Given the description of an element on the screen output the (x, y) to click on. 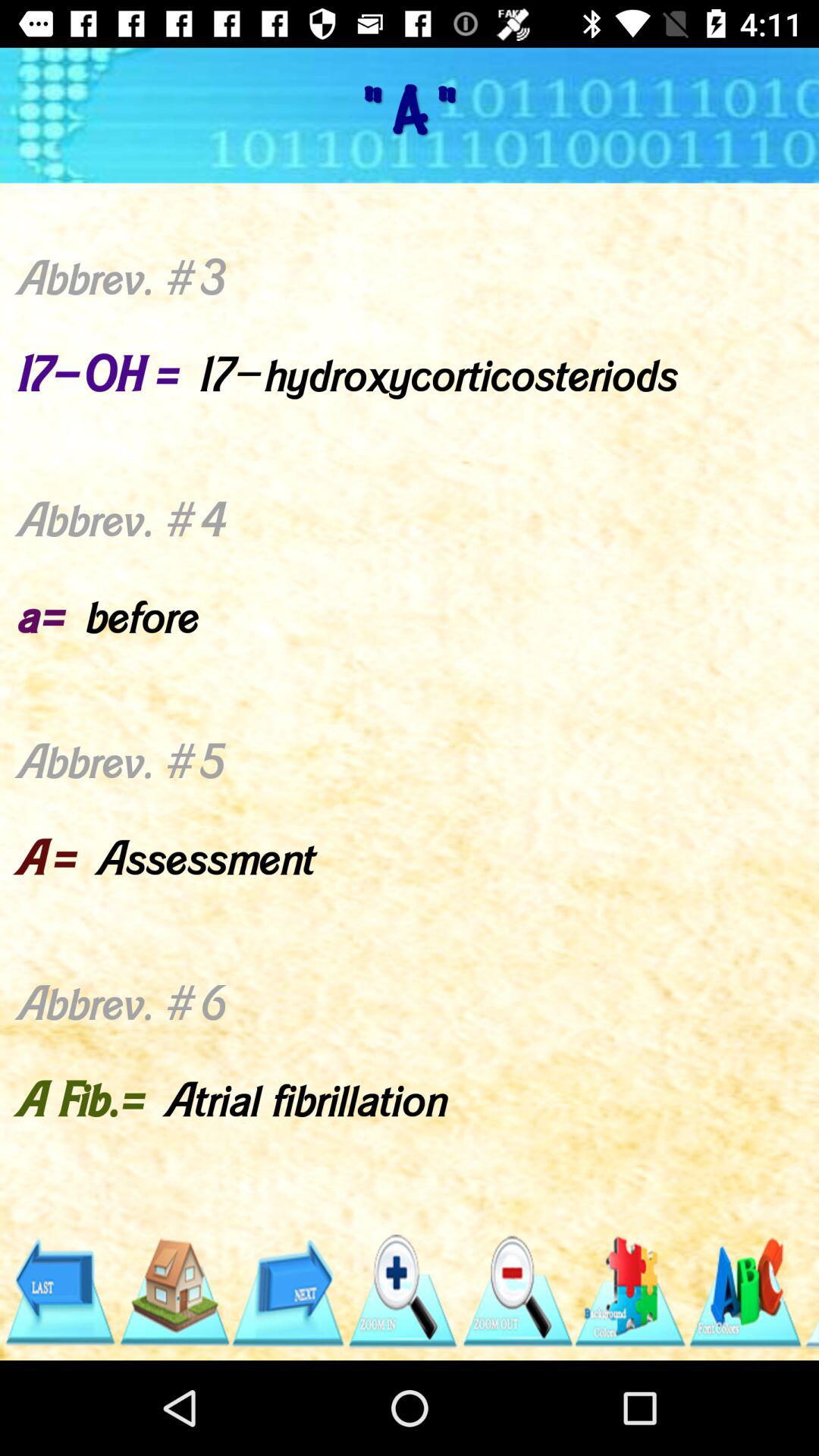
go back (59, 1291)
